Given the description of an element on the screen output the (x, y) to click on. 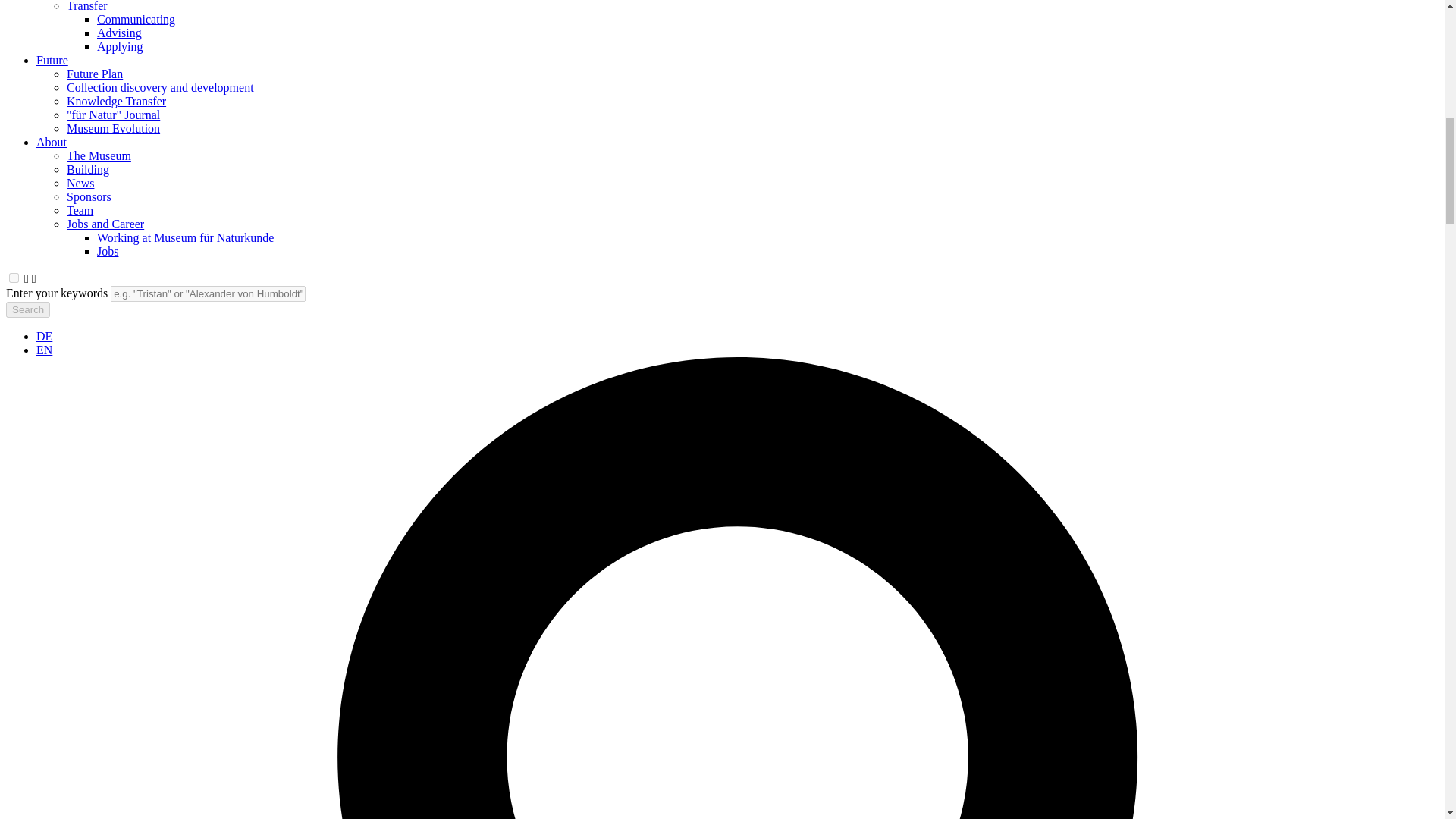
Search (27, 309)
on (13, 277)
on (13, 277)
